Given the description of an element on the screen output the (x, y) to click on. 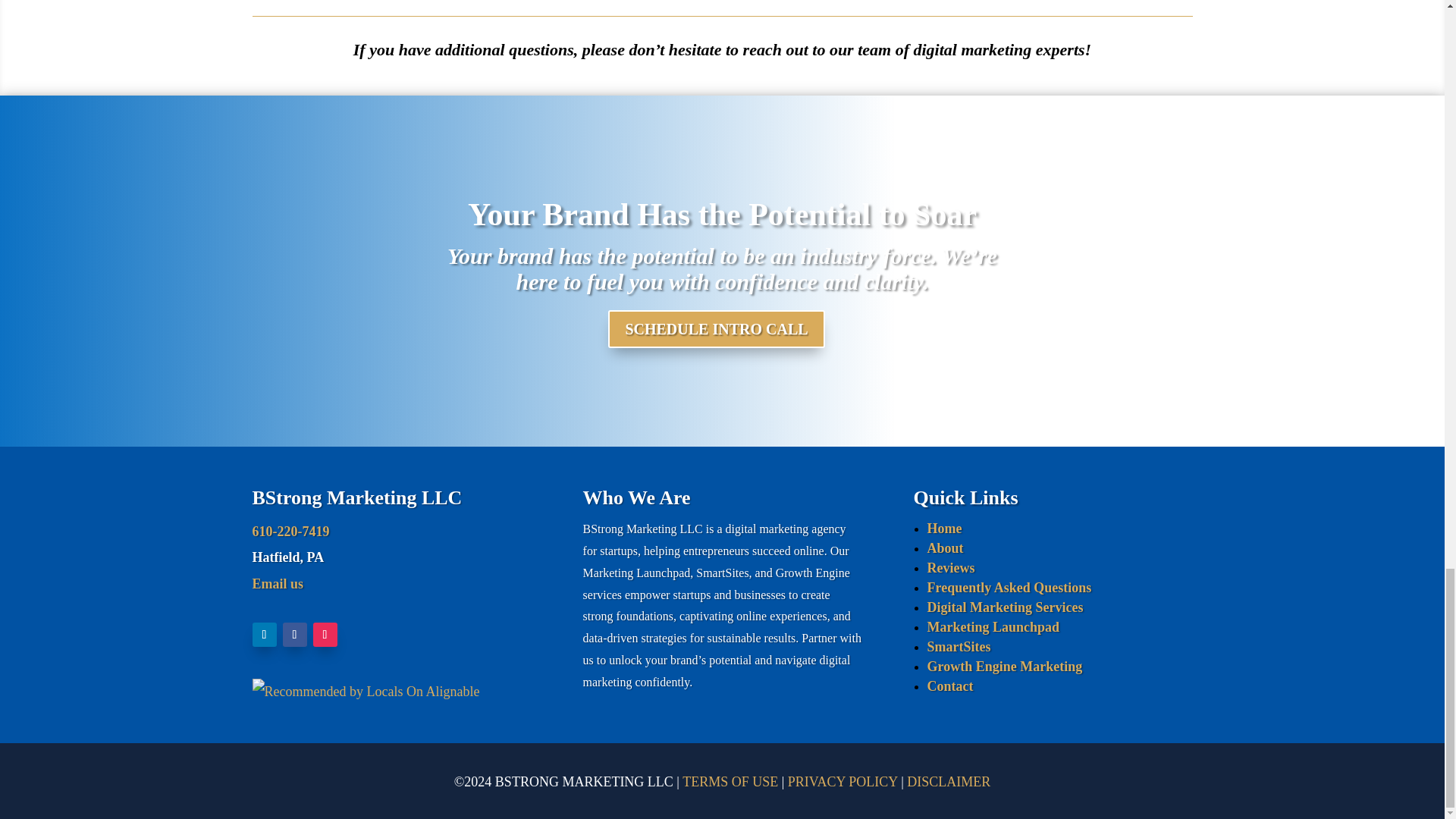
Follow on LinkedIn (263, 634)
SCHEDULE INTRO CALL (716, 329)
610-220-7419 (290, 531)
Recommended by Locals On Alignable (365, 691)
Follow on Facebook (293, 634)
reach out (775, 49)
Follow on Instagram (324, 634)
